Given the description of an element on the screen output the (x, y) to click on. 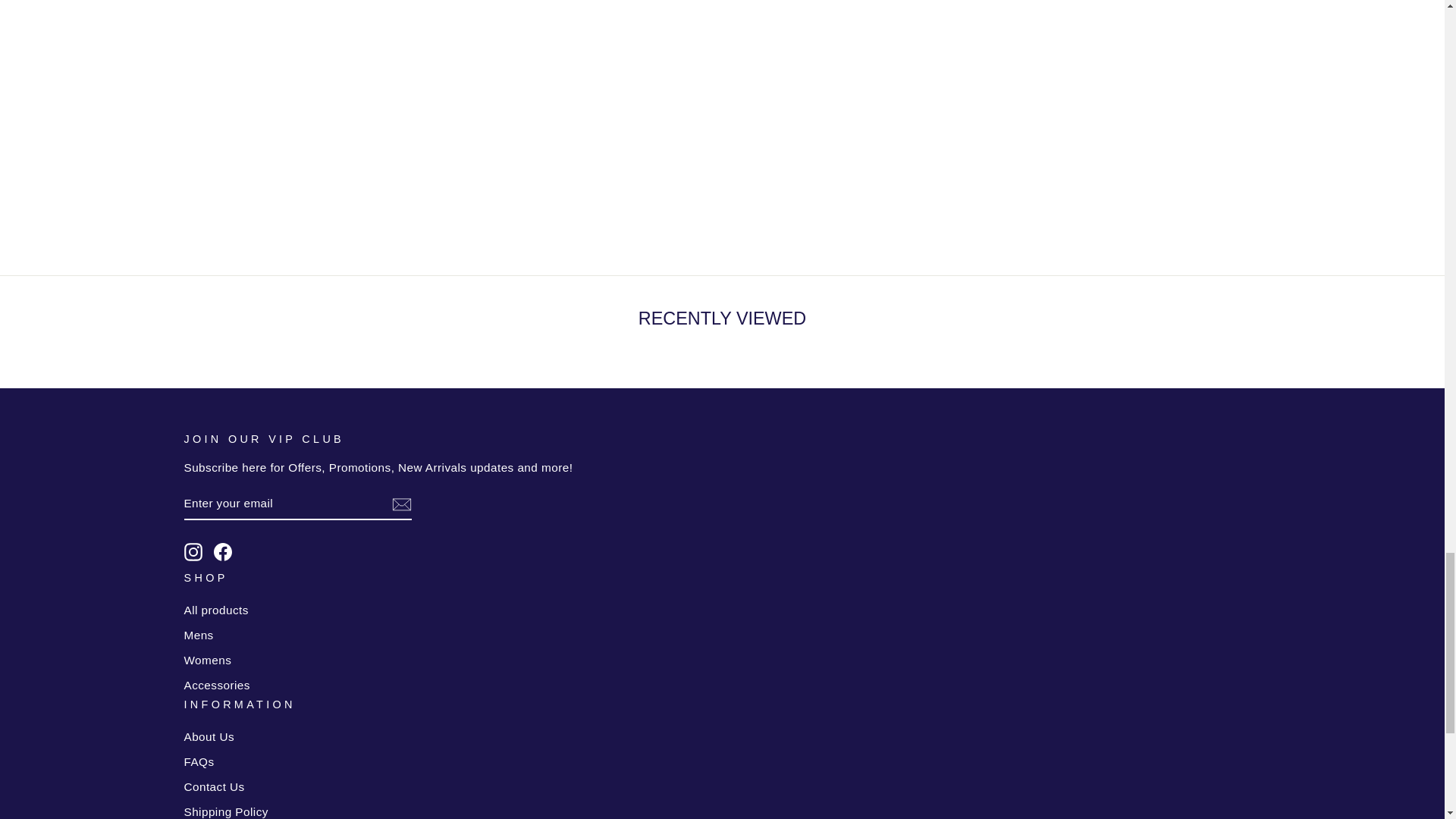
Wangaratta Equine Emporium on Instagram (192, 551)
icon-email (400, 504)
Wangaratta Equine Emporium on Facebook (222, 551)
instagram (192, 551)
